Given the description of an element on the screen output the (x, y) to click on. 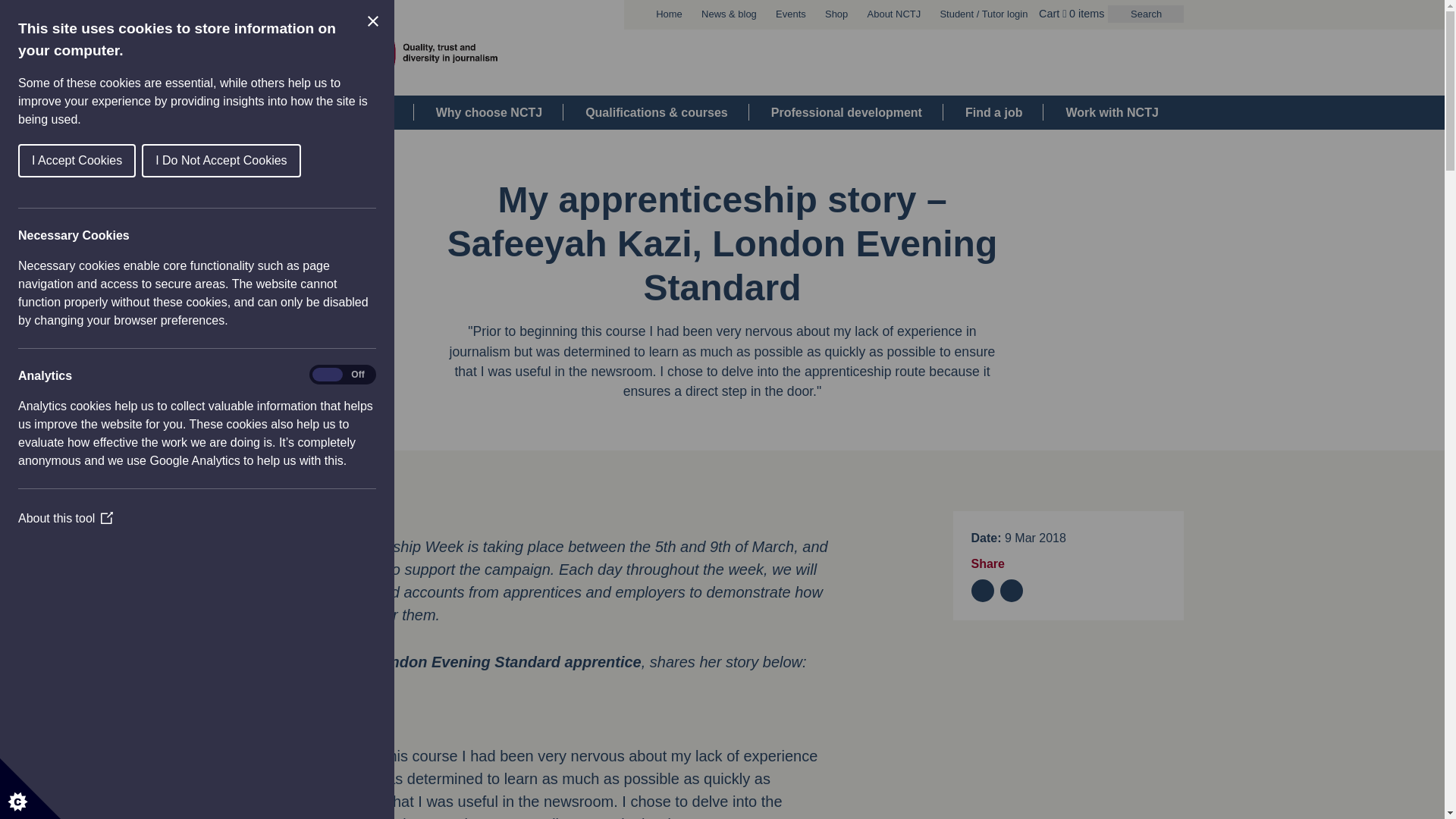
Professional development (846, 112)
I Do Not Accept Cookies (210, 160)
Start shopping (1082, 13)
Life as a journalist (338, 112)
I Accept Cookies (60, 160)
Why choose NCTJ (488, 112)
National Council for the Training of Journalists (381, 56)
